Given the description of an element on the screen output the (x, y) to click on. 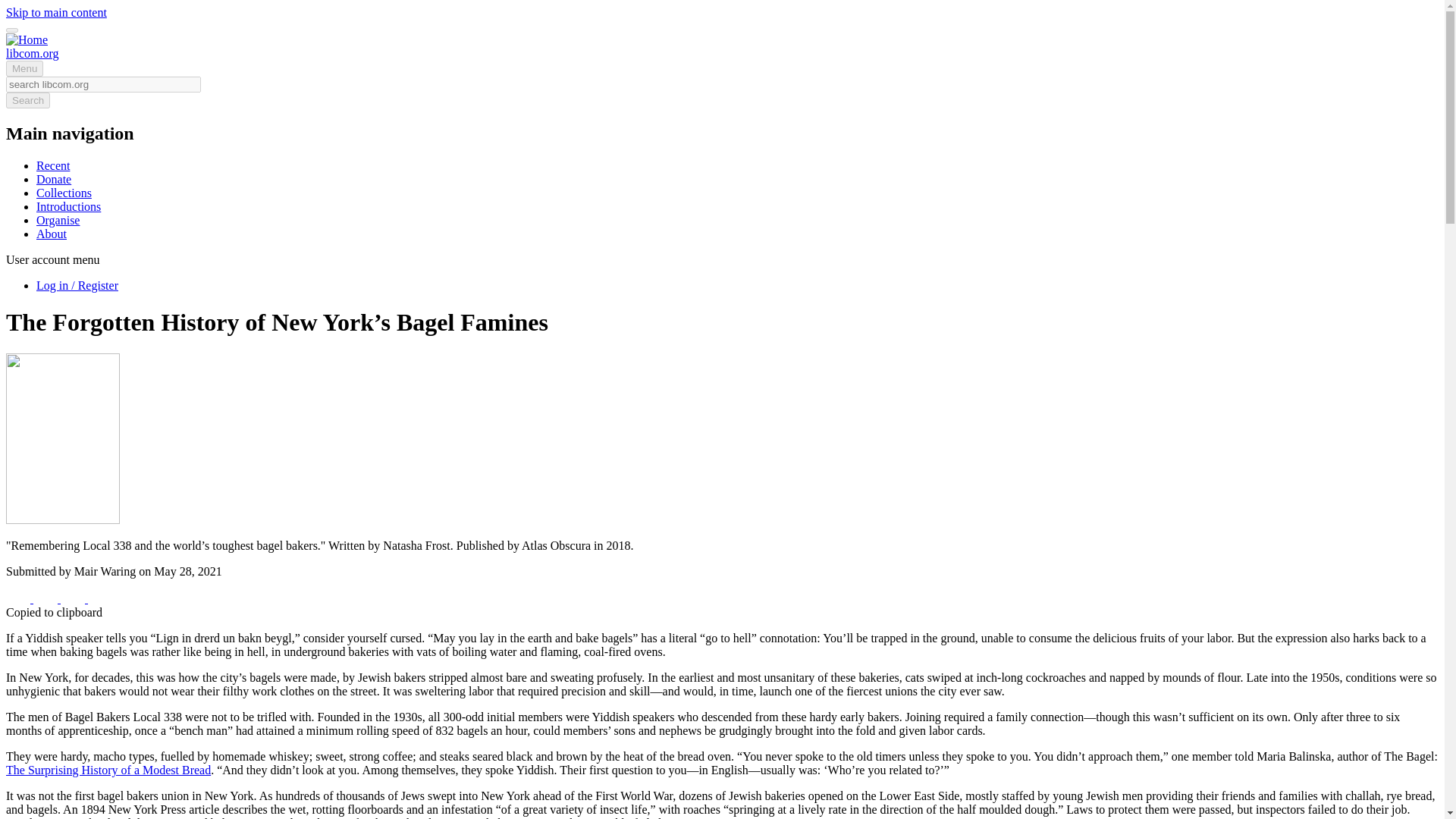
Organise (58, 219)
Share to Reddit (74, 598)
Skip to main content (55, 11)
Share to Facebook (19, 598)
Introductions (68, 205)
Share to Twitter (47, 598)
Recent (52, 164)
The Surprising History of a Modest Bread (108, 769)
Home (31, 52)
About (51, 233)
